Given the description of an element on the screen output the (x, y) to click on. 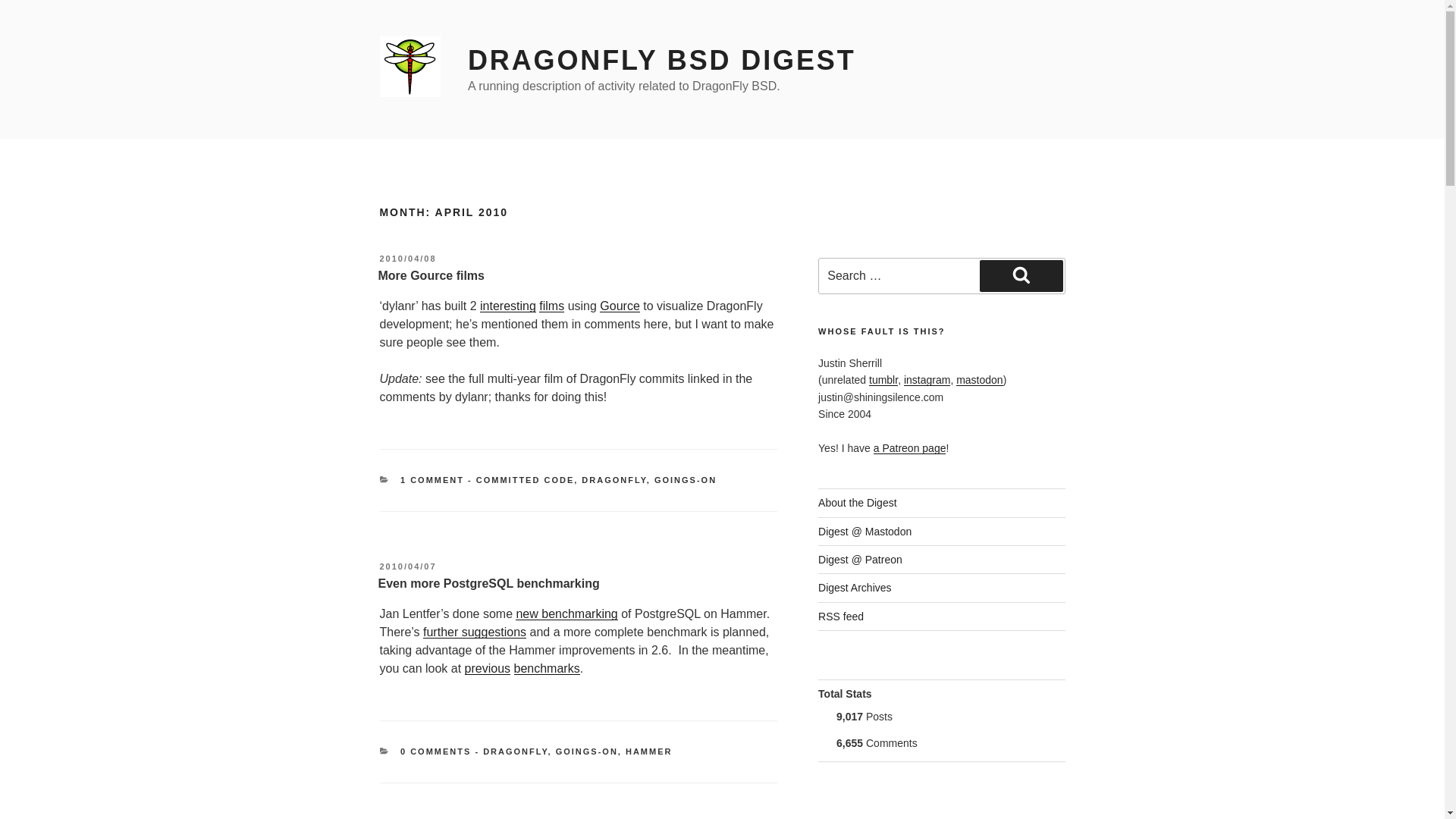
interesting (507, 305)
previous (487, 667)
HAMMER (649, 750)
benchmarks (546, 667)
DRAGONFLY BSD DIGEST (661, 60)
GOINGS-ON (586, 750)
DRAGONFLY (613, 479)
1 COMMENT (432, 479)
new benchmarking (566, 613)
GOINGS-ON (684, 479)
Gource (619, 305)
COMMITTED CODE (524, 479)
films (551, 305)
further suggestions (474, 631)
More Gource films (430, 275)
